Given the description of an element on the screen output the (x, y) to click on. 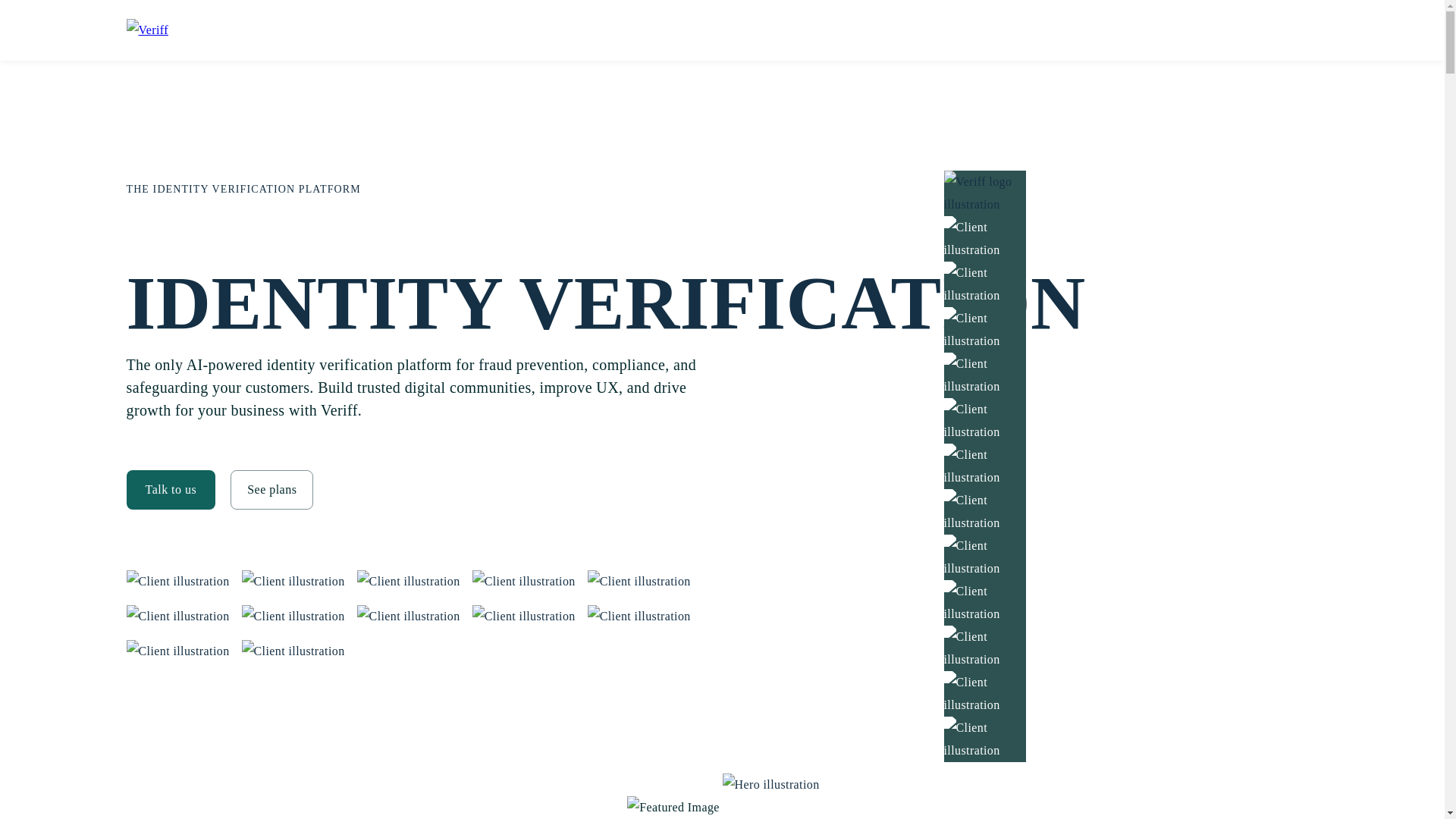
Talk to us (170, 489)
Talk to us (170, 487)
See plans (271, 489)
See plans (264, 487)
